Given the description of an element on the screen output the (x, y) to click on. 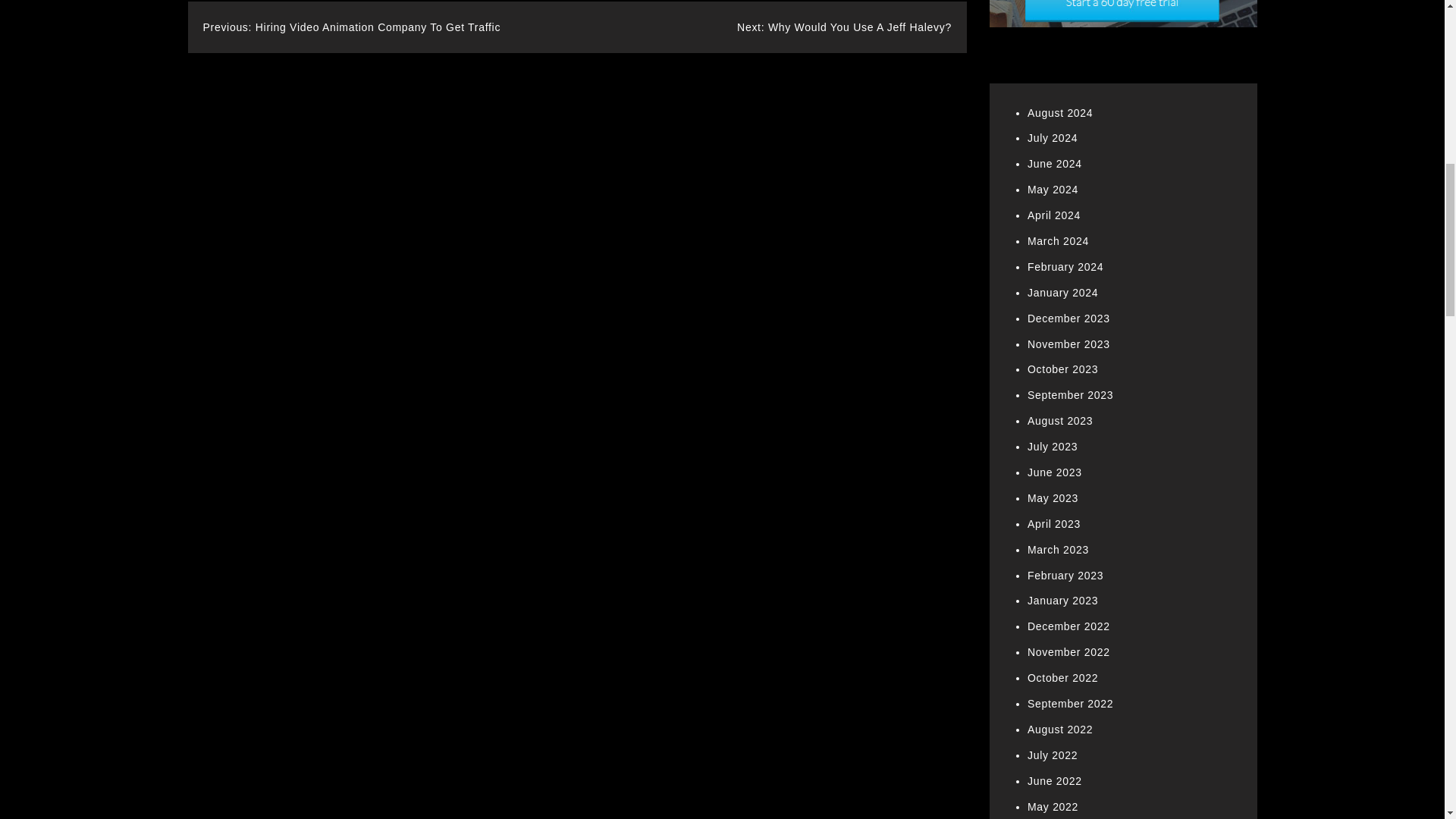
May 2024 (1052, 189)
March 2023 (1058, 549)
July 2023 (1052, 446)
October 2023 (1062, 369)
Next: Why Would You Use A Jeff Halevy? (844, 27)
December 2023 (1068, 318)
April 2024 (1053, 215)
February 2024 (1065, 266)
December 2022 (1068, 625)
January 2023 (1062, 600)
